Given the description of an element on the screen output the (x, y) to click on. 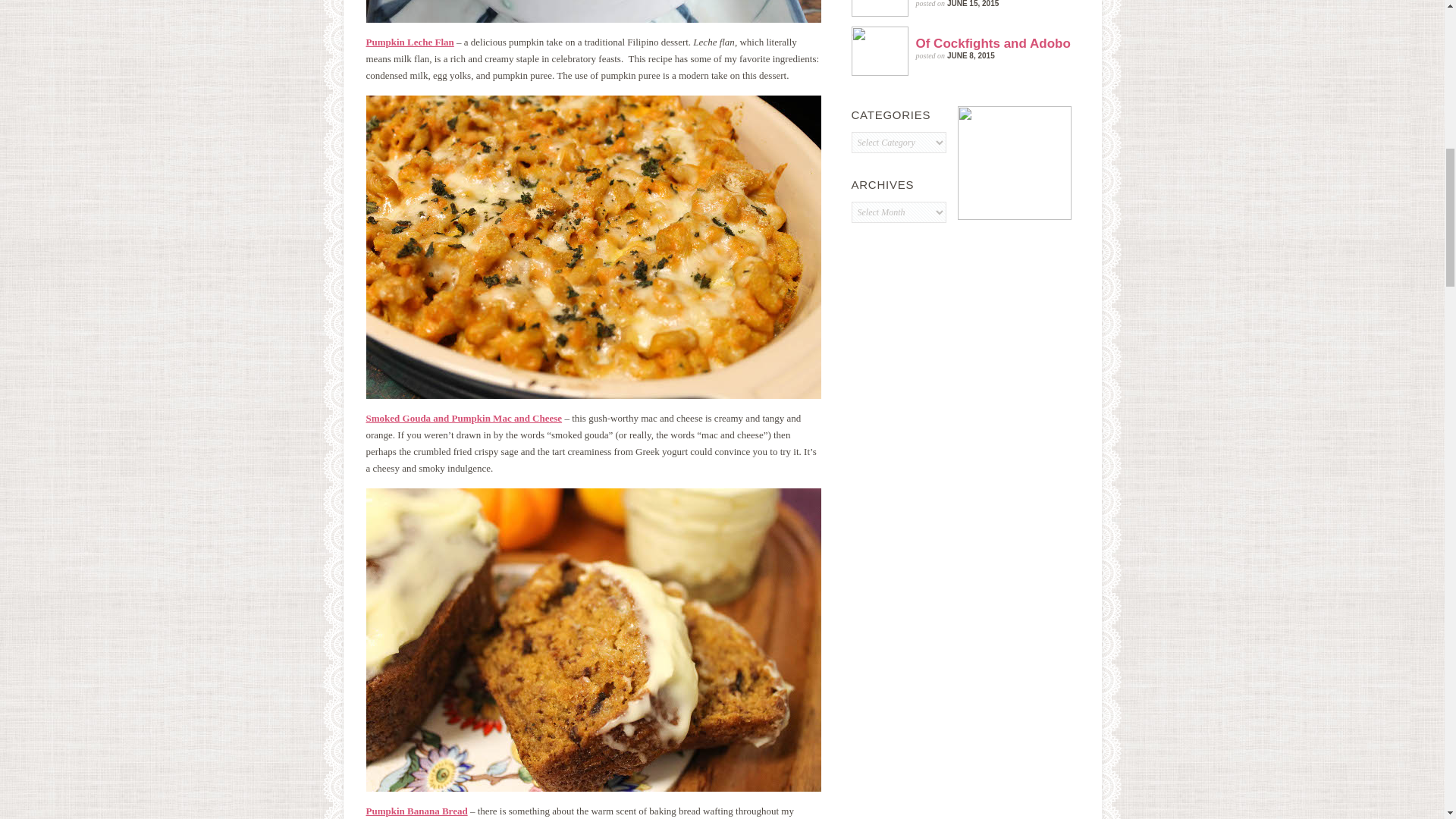
pumpkin flan (593, 11)
Pumpkin Leche Flan (408, 41)
Smoked Gouda and Pumpkin Mac and Cheese (463, 418)
Pumpkin Banana Bread (416, 810)
